Given the description of an element on the screen output the (x, y) to click on. 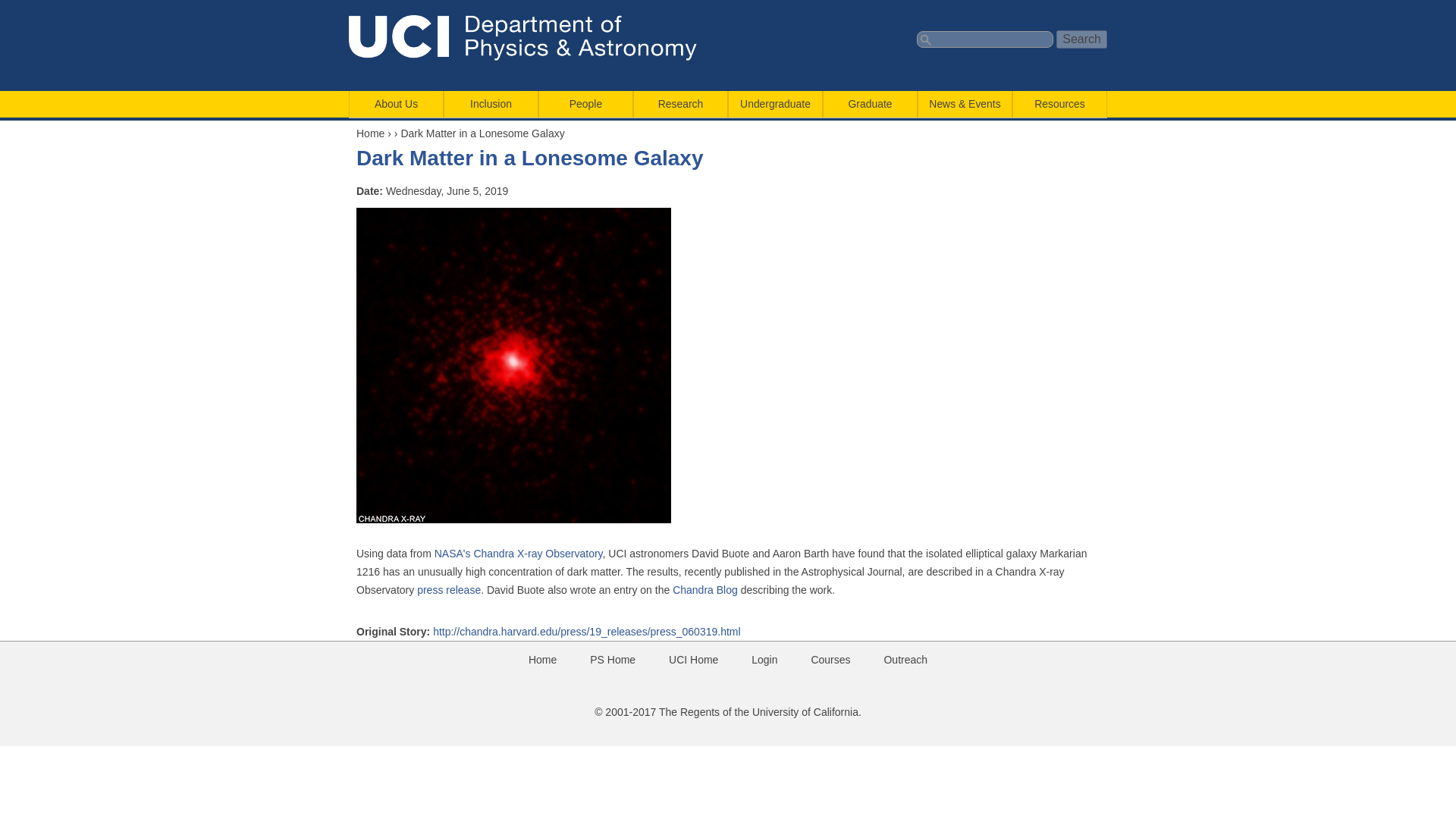
About Us (395, 103)
Enter the terms you wish to search for. (984, 39)
Search (1081, 39)
Search (1081, 39)
Research (679, 103)
Home (533, 37)
Undergraduate (775, 103)
Inclusion (490, 103)
People (584, 103)
